Given the description of an element on the screen output the (x, y) to click on. 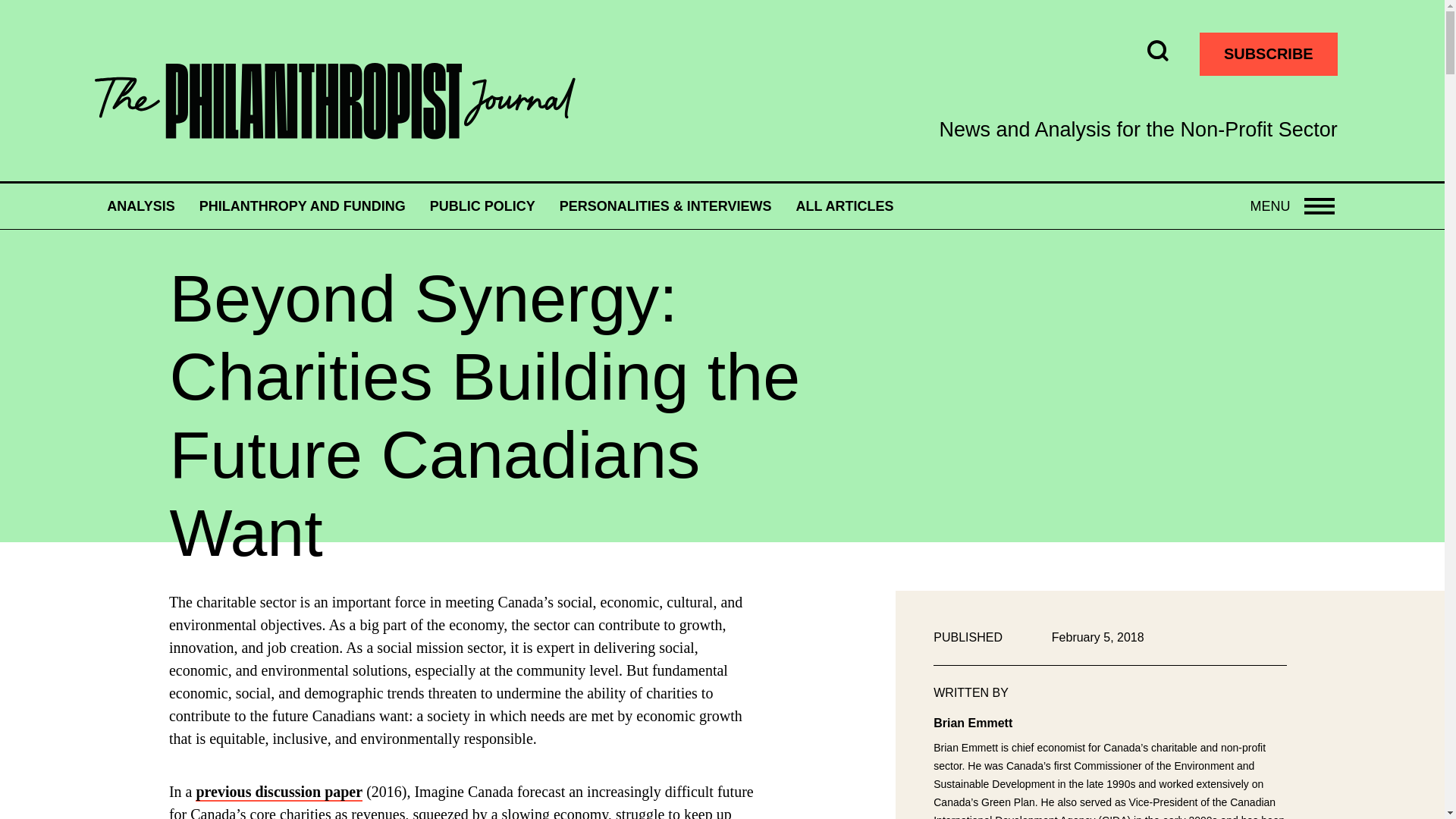
PUBLIC POLICY (482, 205)
The Philanthropist Journal (334, 102)
ANALYSIS (140, 205)
PHILANTHROPY AND FUNDING (1292, 205)
ALL ARTICLES (302, 205)
SUBSCRIBE (843, 205)
